Given the description of an element on the screen output the (x, y) to click on. 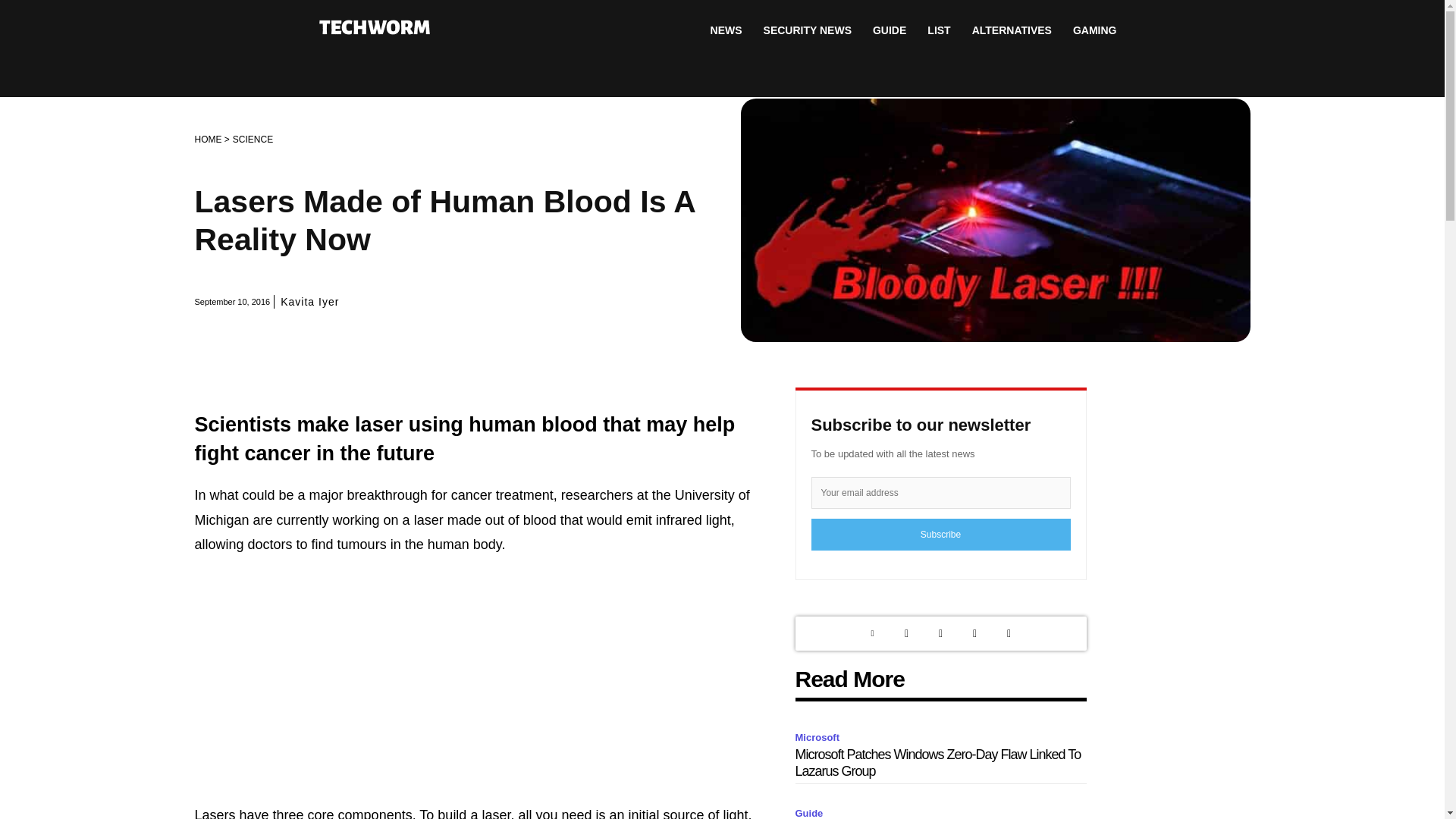
Subscribe (940, 534)
Lasers Made of Human Blood Is A Reality Now (994, 220)
Guide (810, 812)
Twitter (906, 633)
GUIDE (889, 30)
View all posts in Science (252, 139)
Instagram (940, 633)
Facebook (974, 633)
SCIENCE (252, 139)
